Given the description of an element on the screen output the (x, y) to click on. 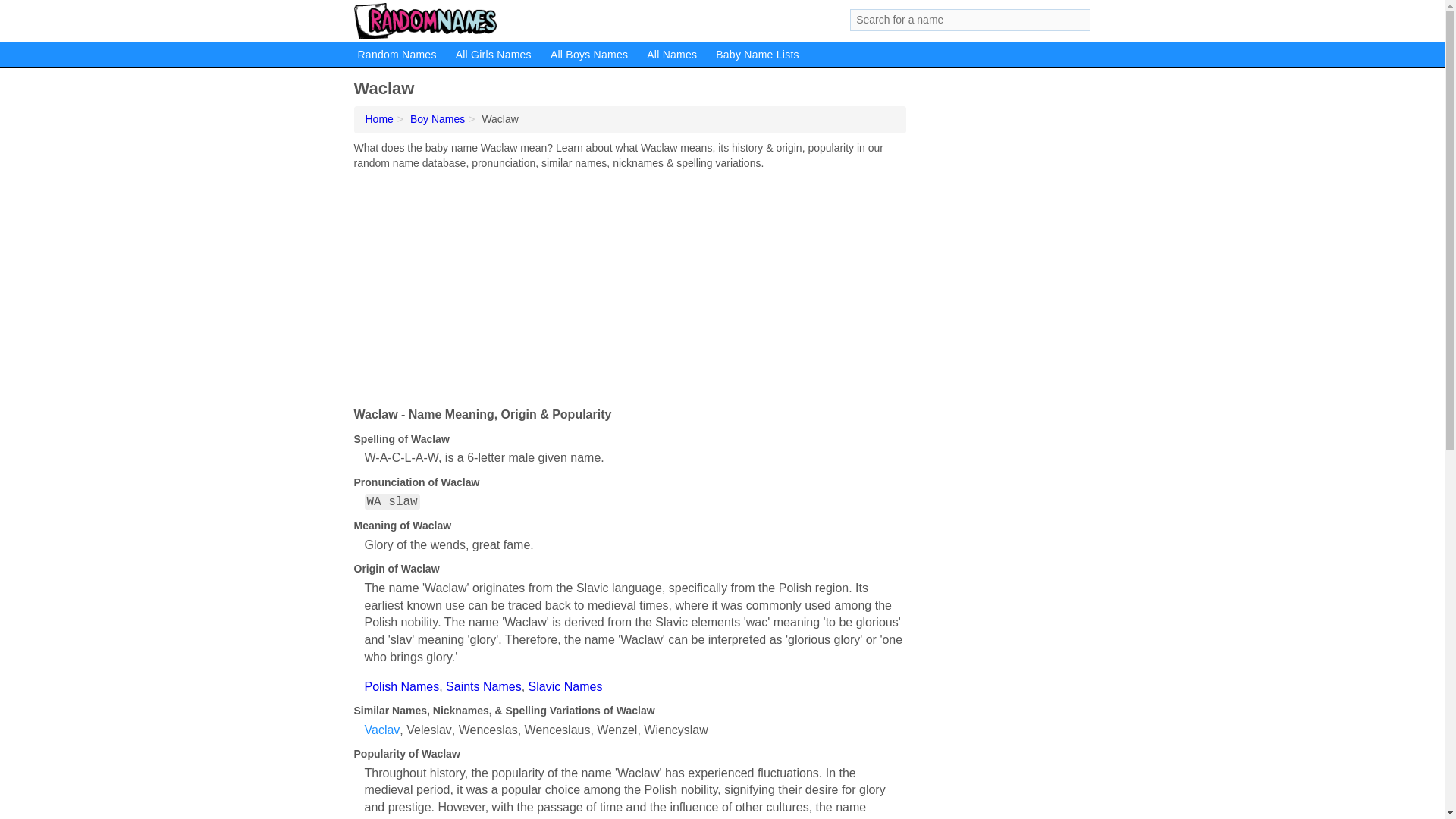
Home (379, 119)
Polish Names (401, 686)
All Girls' Names A-Z (493, 54)
Baby Name Lists (756, 54)
Polish Names (401, 686)
Vaclav (381, 729)
All Boys' Names A-Z (588, 54)
All Names A-Z (671, 54)
All Names (671, 54)
Slavic Names (565, 686)
